Given the description of an element on the screen output the (x, y) to click on. 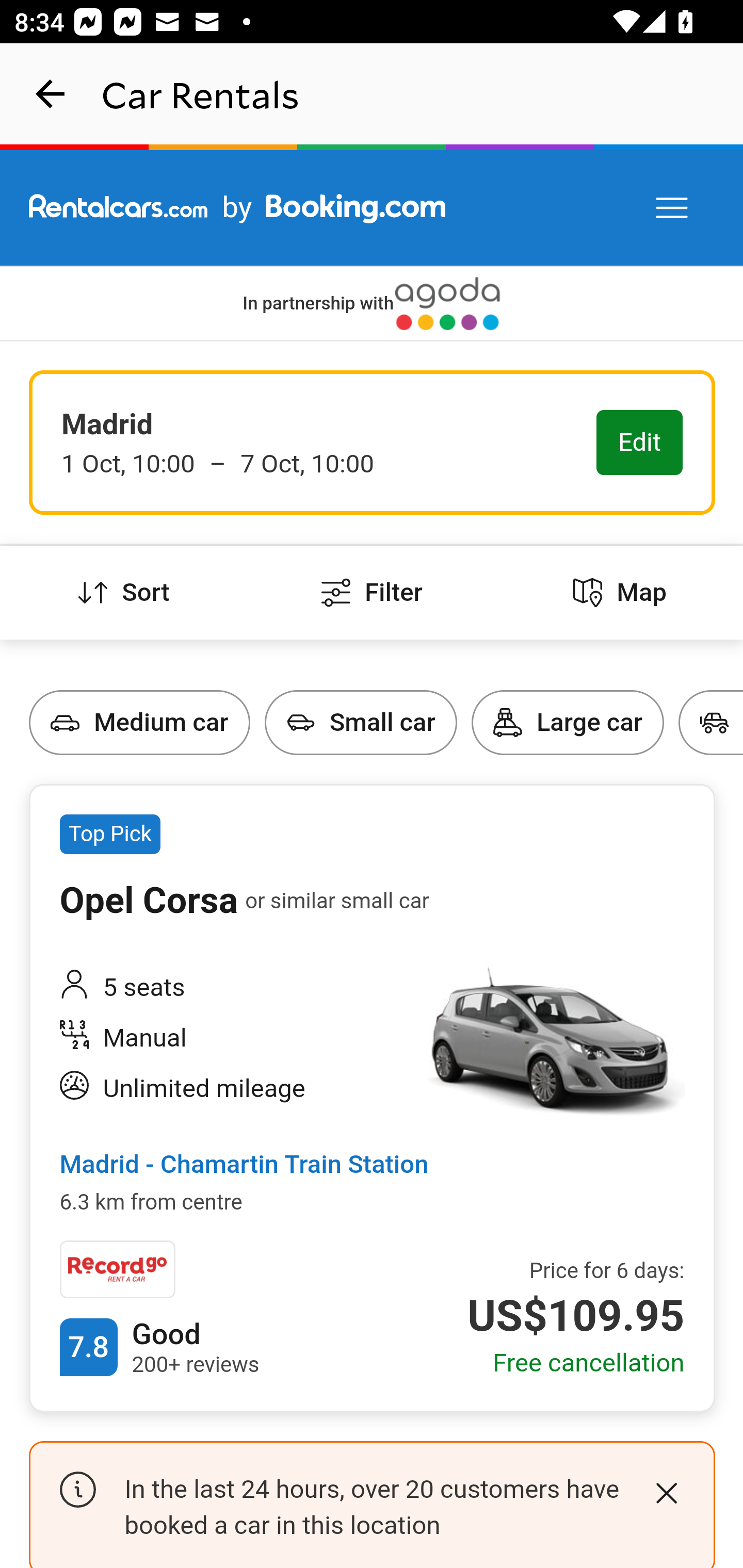
navigation_button (50, 93)
Menu (672, 208)
Edit (639, 443)
Sort (124, 592)
Filter (371, 592)
5 seats (225, 987)
Manual (225, 1039)
Unlimited mileage (225, 1088)
Madrid - Chamartin Train Station (243, 1165)
7.8 7.8 Good Customer rating 7.8 Good 200+ reviews (158, 1346)
Close (666, 1494)
